Given the description of an element on the screen output the (x, y) to click on. 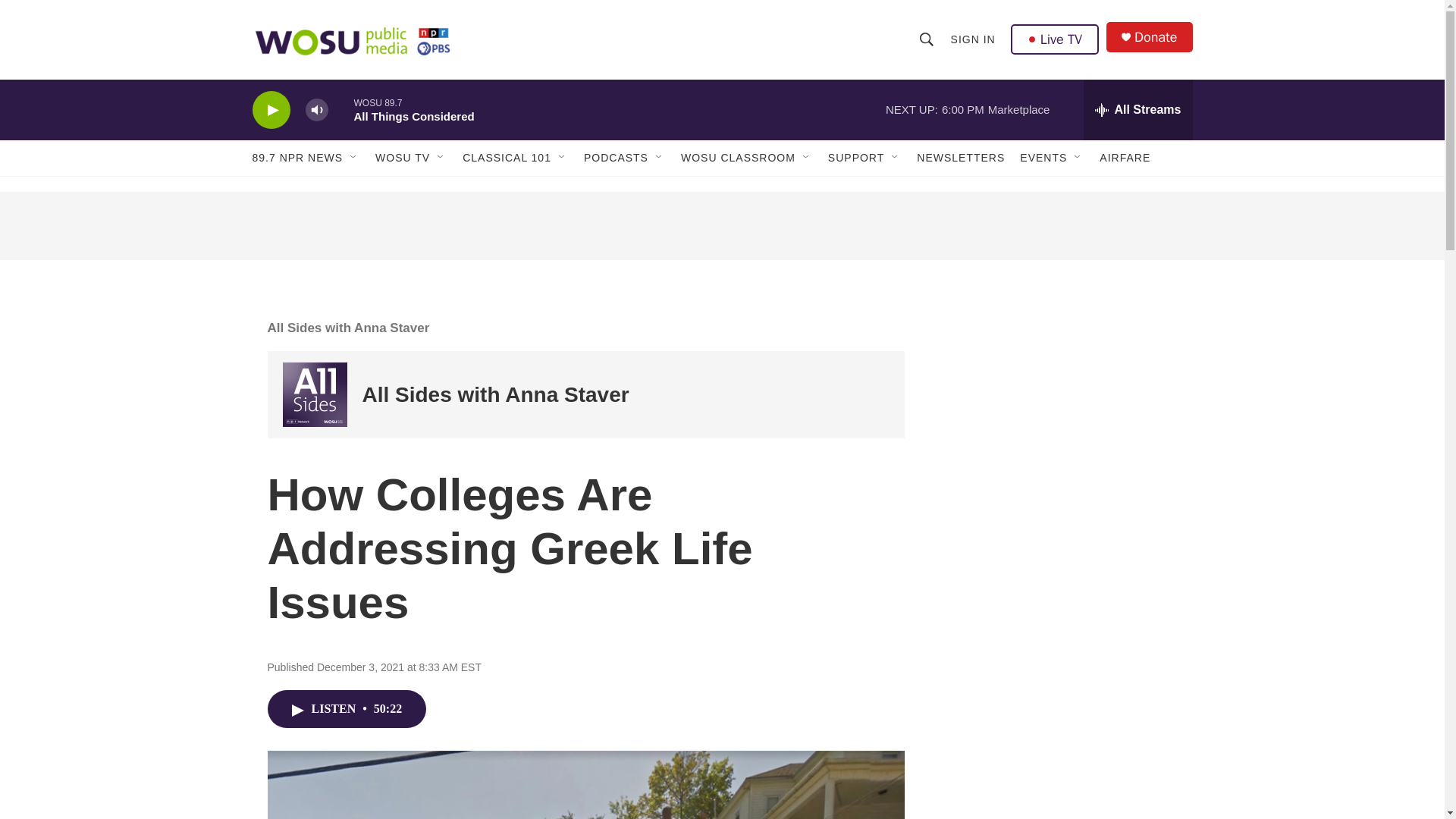
3rd party ad content (1062, 782)
3rd party ad content (1062, 619)
3rd party ad content (721, 225)
3rd party ad content (1062, 400)
